Given the description of an element on the screen output the (x, y) to click on. 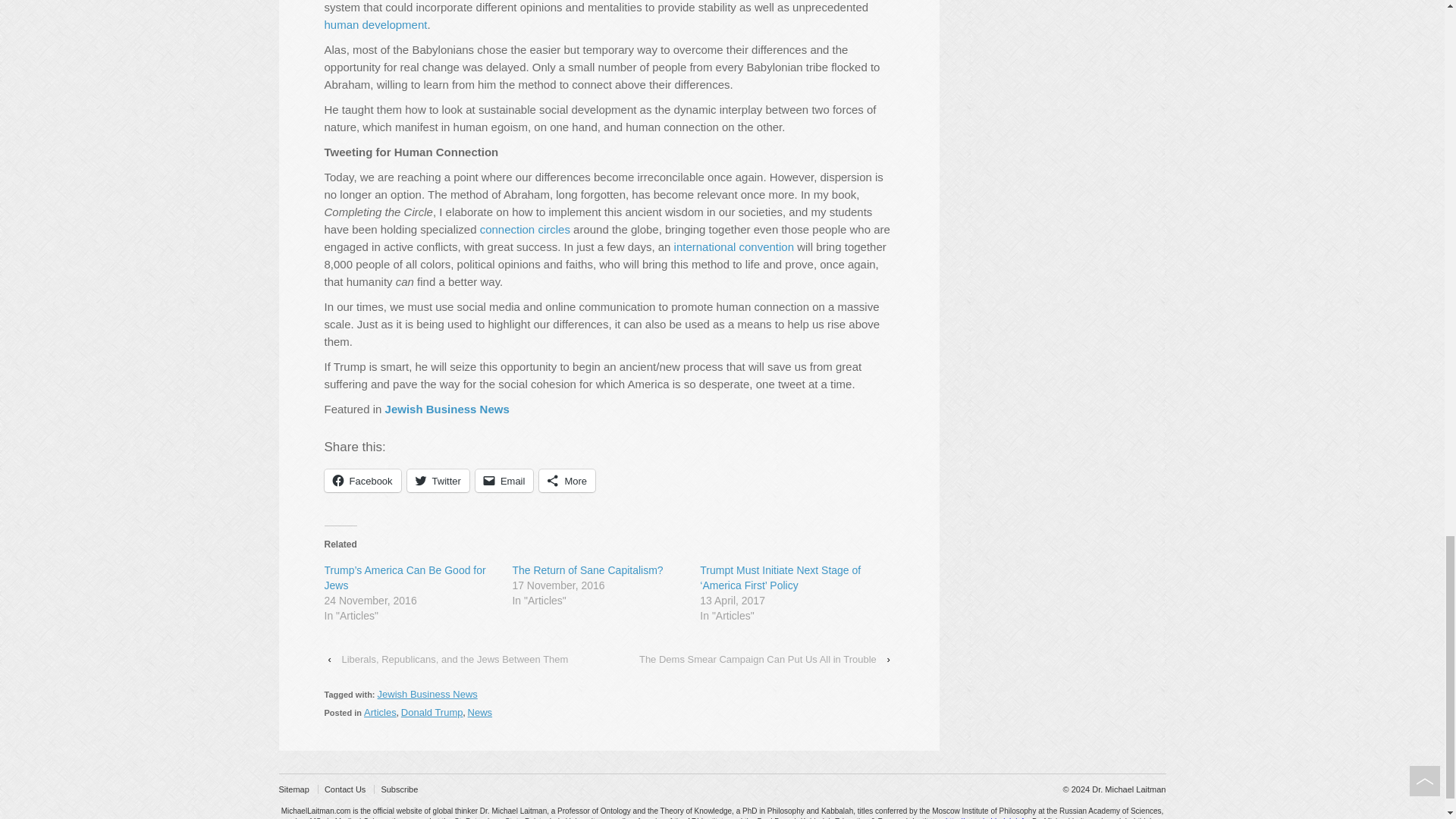
Click to email a link to a friend (505, 480)
Facebook (362, 480)
Liberals, Republicans, and the Jews Between Them (454, 659)
Click to share on Twitter (437, 480)
The Return of Sane Capitalism? (587, 570)
Jewish Business News (447, 408)
Click to share on Facebook (362, 480)
international convention (733, 246)
More (566, 480)
The Return of Sane Capitalism? (587, 570)
